Given the description of an element on the screen output the (x, y) to click on. 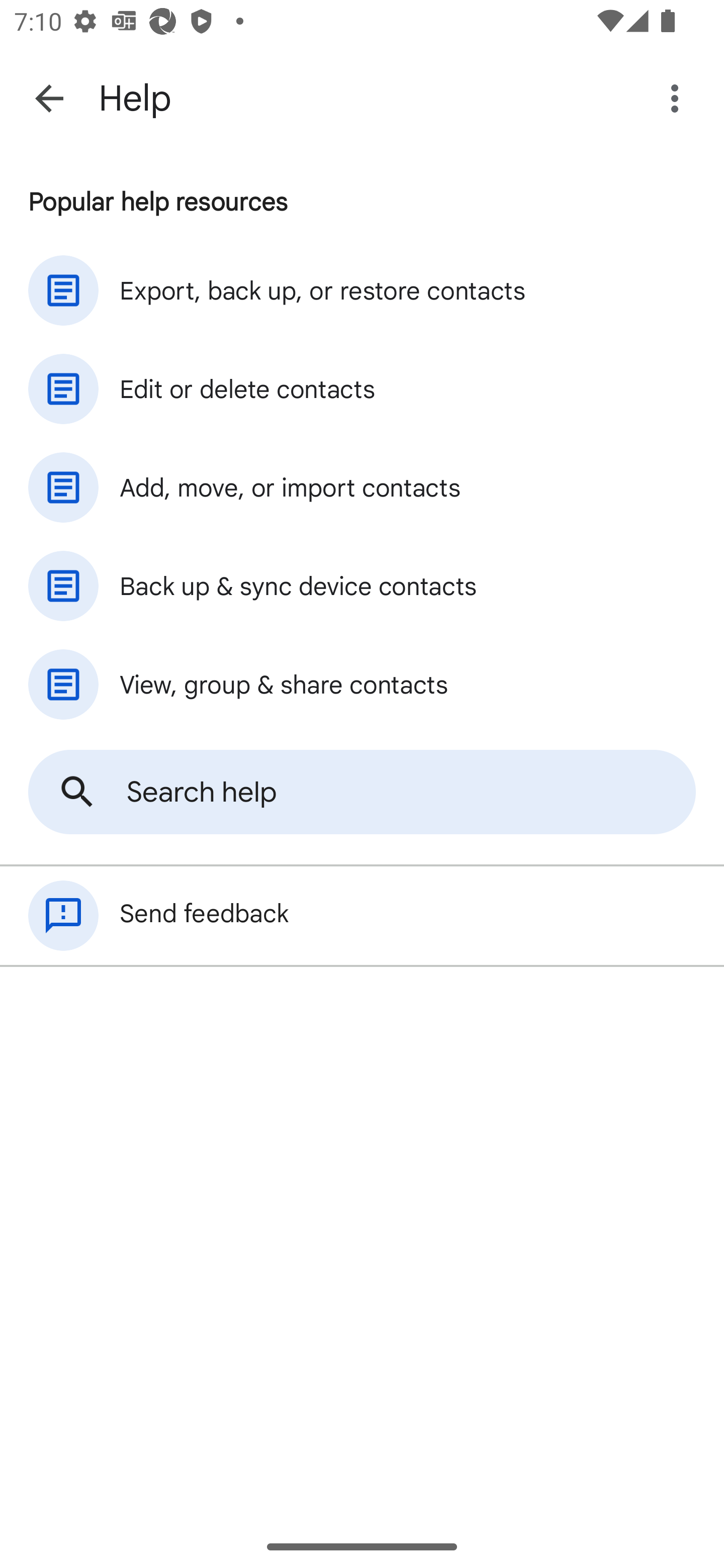
Navigate up (49, 97)
More options (678, 98)
Export, back up, or restore contacts (362, 290)
Edit or delete contacts (362, 388)
Add, move, or import contacts (362, 486)
Back up & sync device contacts (362, 585)
View, group & share contacts (362, 684)
Search help (361, 791)
Send feedback (362, 915)
